Given the description of an element on the screen output the (x, y) to click on. 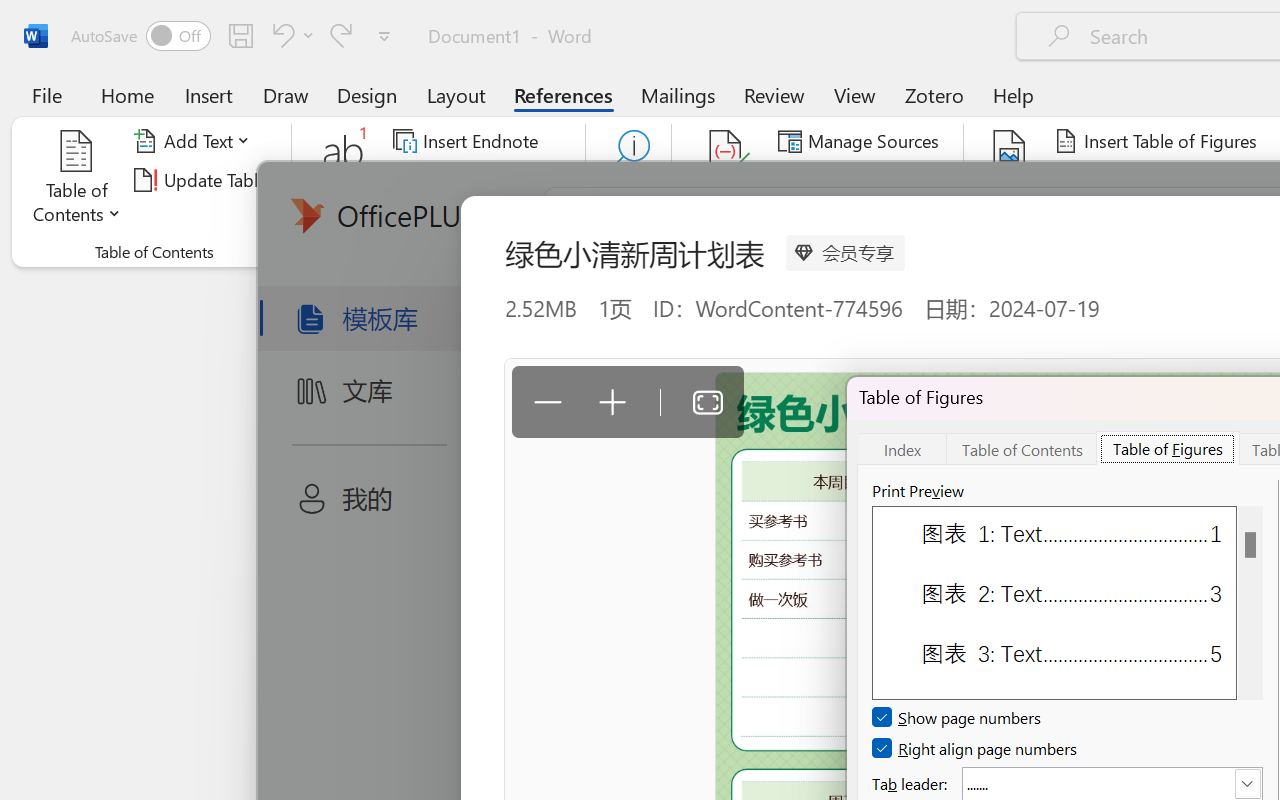
Redo Apply Quick Style (341, 35)
Update Table... (204, 179)
Table of Figures (1167, 447)
